Given the description of an element on the screen output the (x, y) to click on. 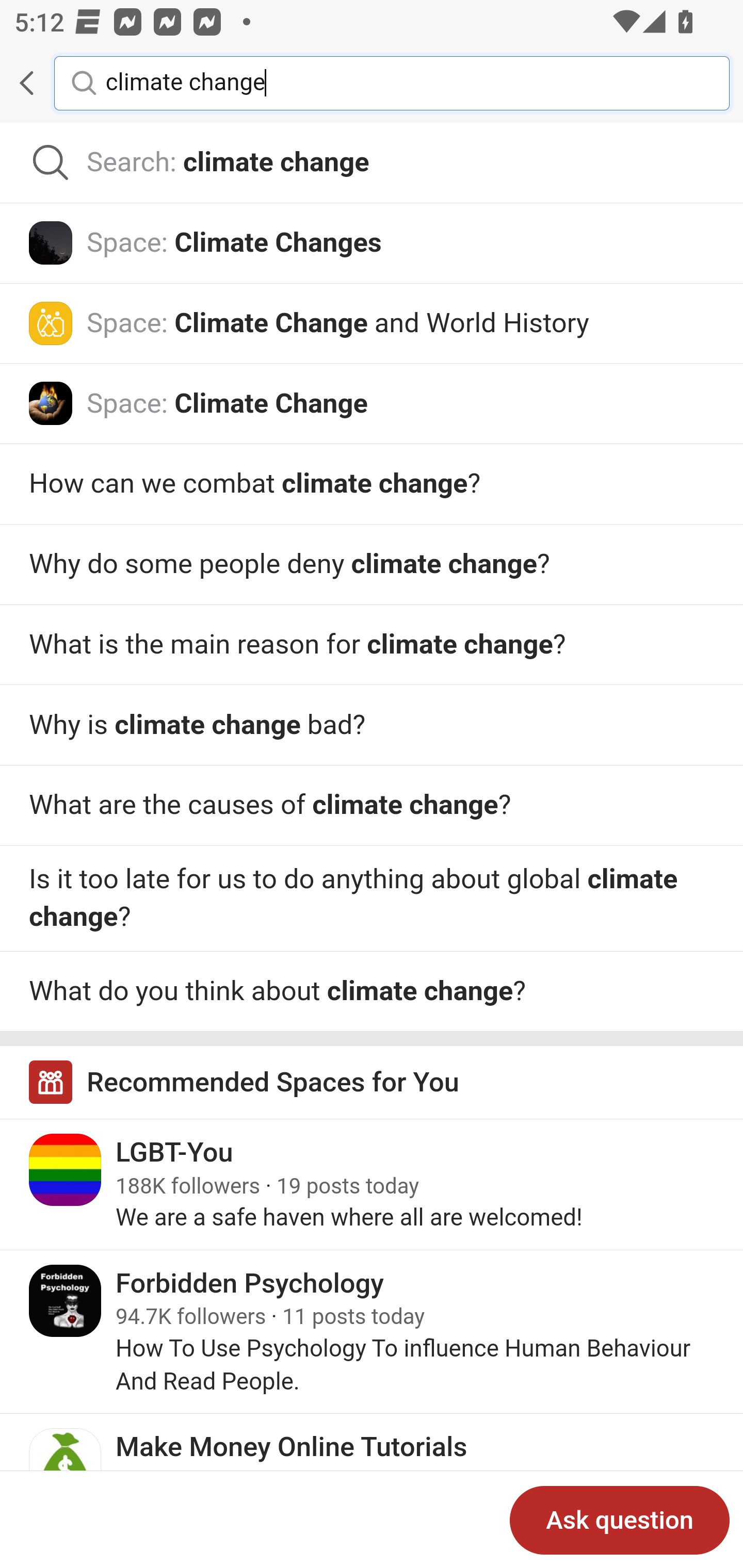
Me (64, 83)
climate change (402, 82)
Search: lc (371, 162)
Icon for Climate Changes (50, 241)
Icon for Climate Change and World History (50, 322)
Icon for Climate Change (50, 403)
How can we combat climate change? (371, 484)
What do you prefer Clickbank or CPA Marketing? (371, 564)
What is the main reason for climate change? (371, 805)
Icon for LGBT-You (65, 1169)
Icon for Forbidden Psychology (65, 1300)
Ask question (619, 1519)
